Given the description of an element on the screen output the (x, y) to click on. 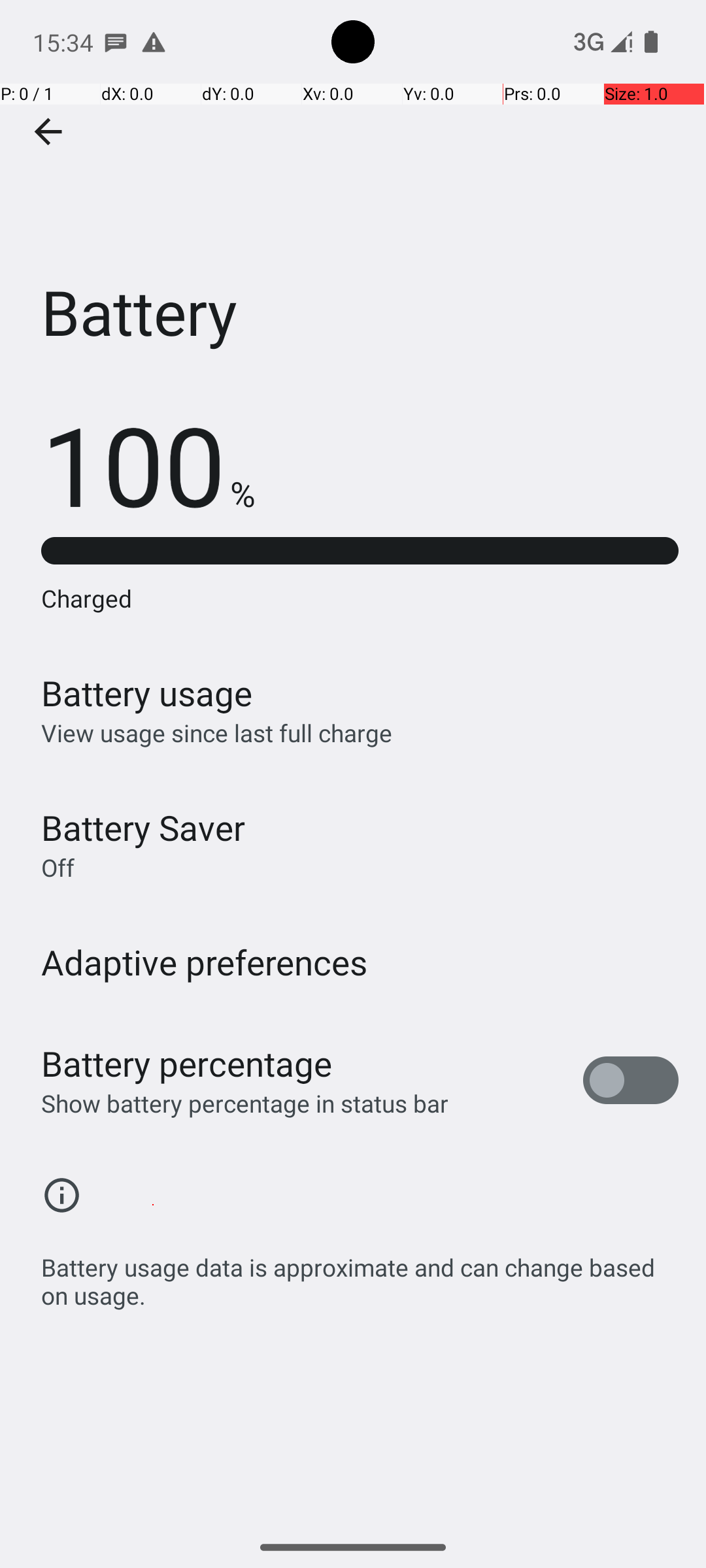
Battery Element type: android.widget.FrameLayout (353, 195)
100 % Element type: android.widget.TextView (147, 463)
Charged Element type: android.widget.TextView (359, 597)
Battery usage Element type: android.widget.TextView (146, 692)
View usage since last full charge Element type: android.widget.TextView (216, 732)
Battery Saver Element type: android.widget.TextView (143, 827)
Off Element type: android.widget.TextView (57, 866)
Adaptive preferences Element type: android.widget.TextView (204, 961)
Battery percentage Element type: android.widget.TextView (186, 1063)
Show battery percentage in status bar Element type: android.widget.TextView (244, 1102)
Battery usage data is approximate and can change based on usage. Element type: android.widget.TextView (359, 1274)
